Given the description of an element on the screen output the (x, y) to click on. 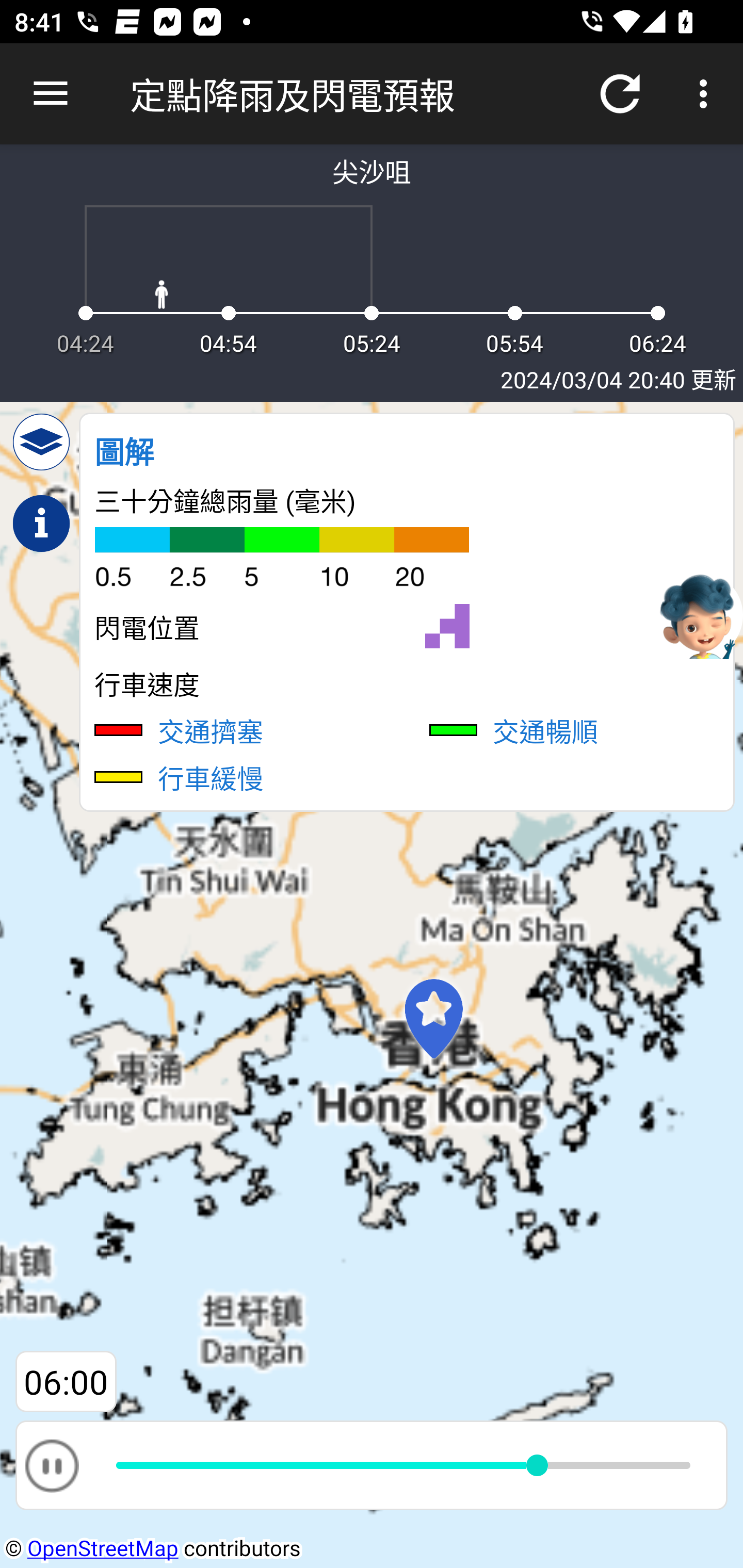
向上瀏覽 (50, 93)
重新整理 (619, 93)
更多選項 (706, 93)
選擇 圖層 (40, 441)
圖解 三十分鐘總雨量 (毫米) 降雨圖解 閃電位置 行車速度 交通擠塞 交通暢順 行車緩慢 (406, 612)
已選擇 說明 (40, 523)
聊天機械人 (699, 614)
05:54 (65, 1381)
暫停 10.0 (371, 1464)
暫停 (50, 1464)
